Given the description of an element on the screen output the (x, y) to click on. 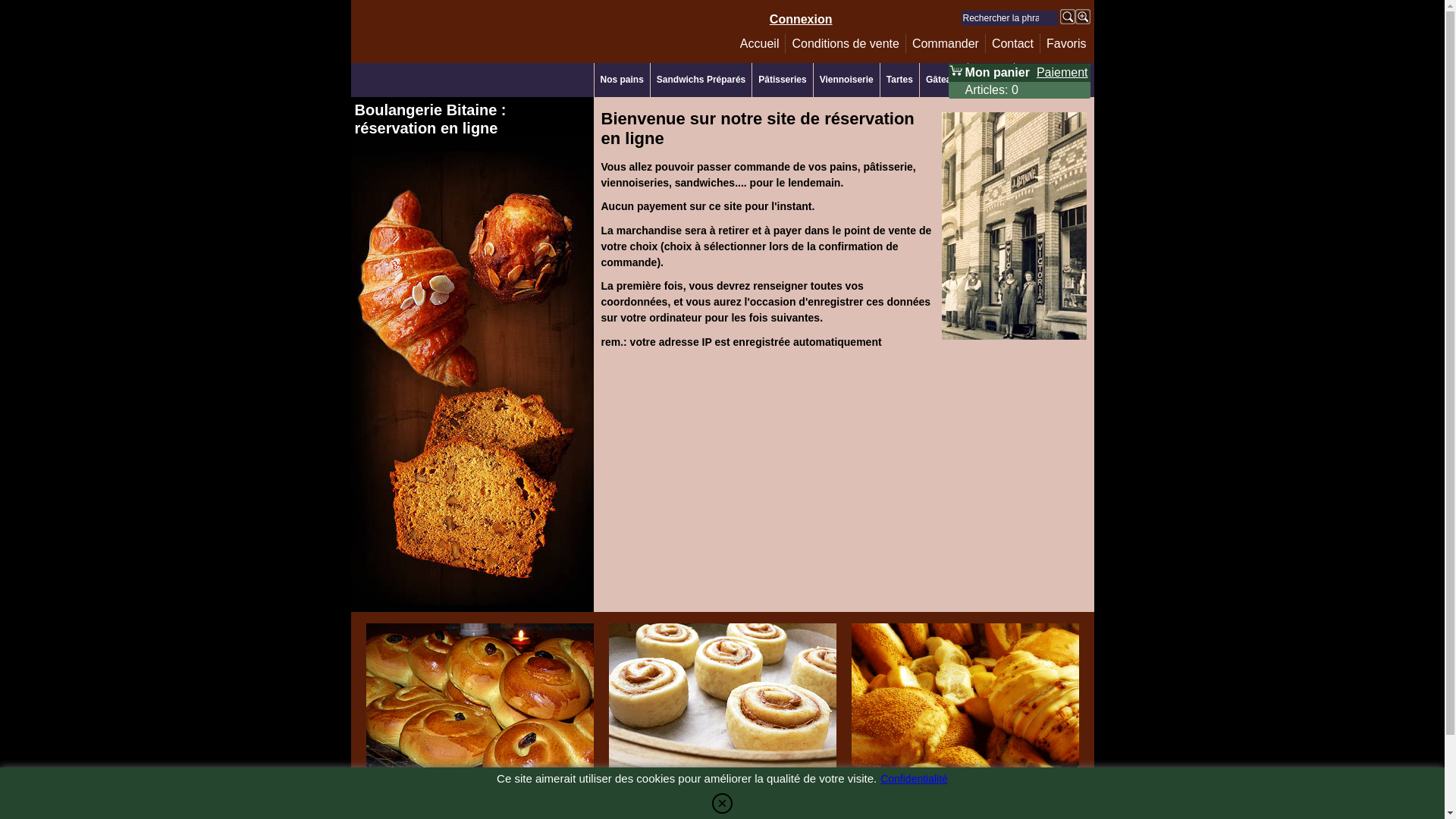
Nos pains Element type: text (621, 79)
Rechercher Element type: hover (1067, 16)
Promotions Element type: text (1045, 79)
Paiement
Mon panier
Articles: 0 Element type: text (1019, 80)
Traiteur Element type: text (990, 79)
Commander Element type: text (945, 43)
Tartes Element type: text (899, 79)
Favoris Element type: text (1065, 43)
Accueil Element type: text (759, 43)
Paiement Element type: text (1062, 72)
www.mbcom.be Element type: text (750, 803)
Viennoiserie Element type: text (846, 79)
Contact Element type: text (1012, 43)
Conditions de vente Element type: text (844, 43)
Connexion Element type: text (800, 18)
